Given the description of an element on the screen output the (x, y) to click on. 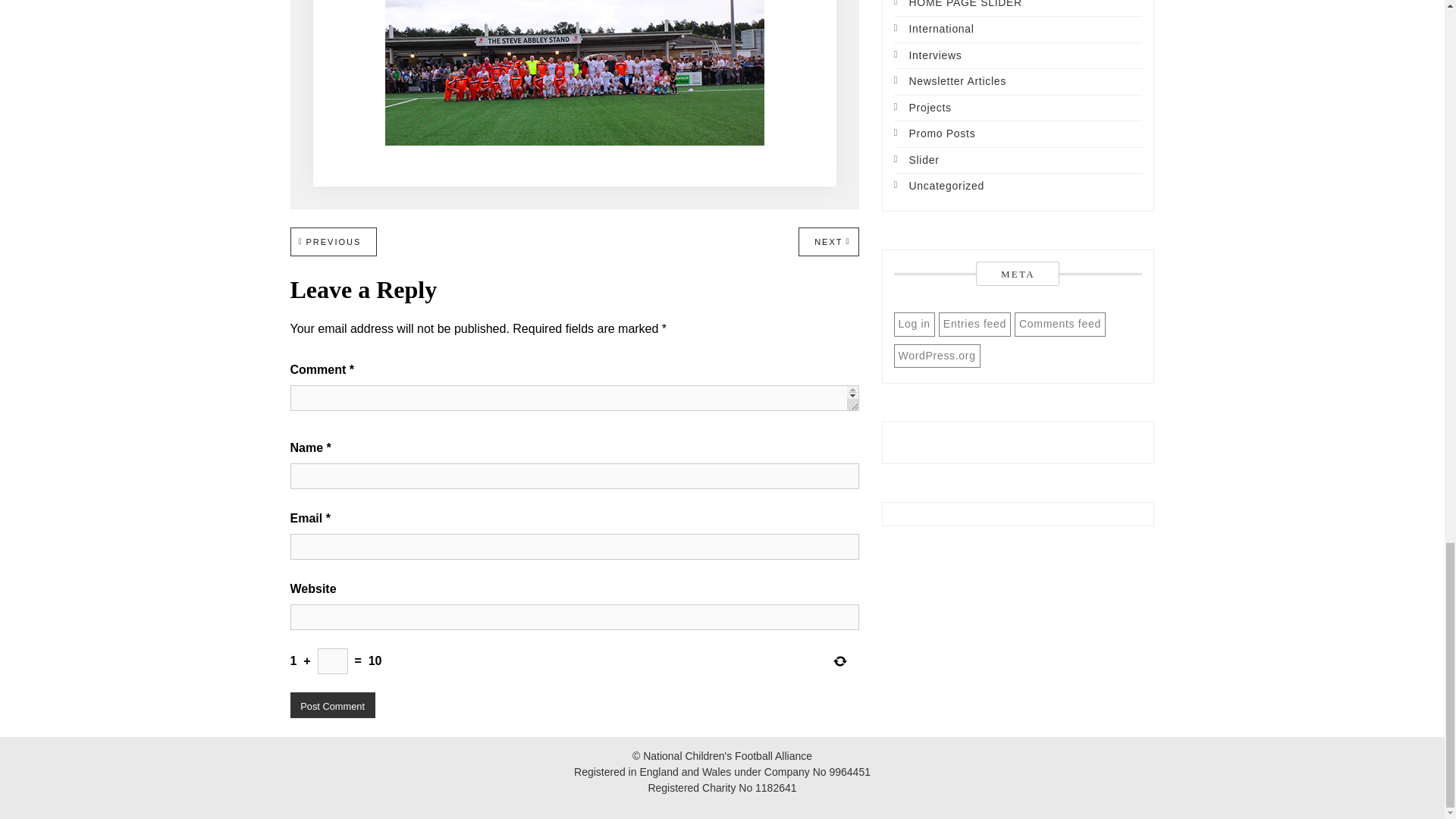
Post Comment (333, 241)
